Given the description of an element on the screen output the (x, y) to click on. 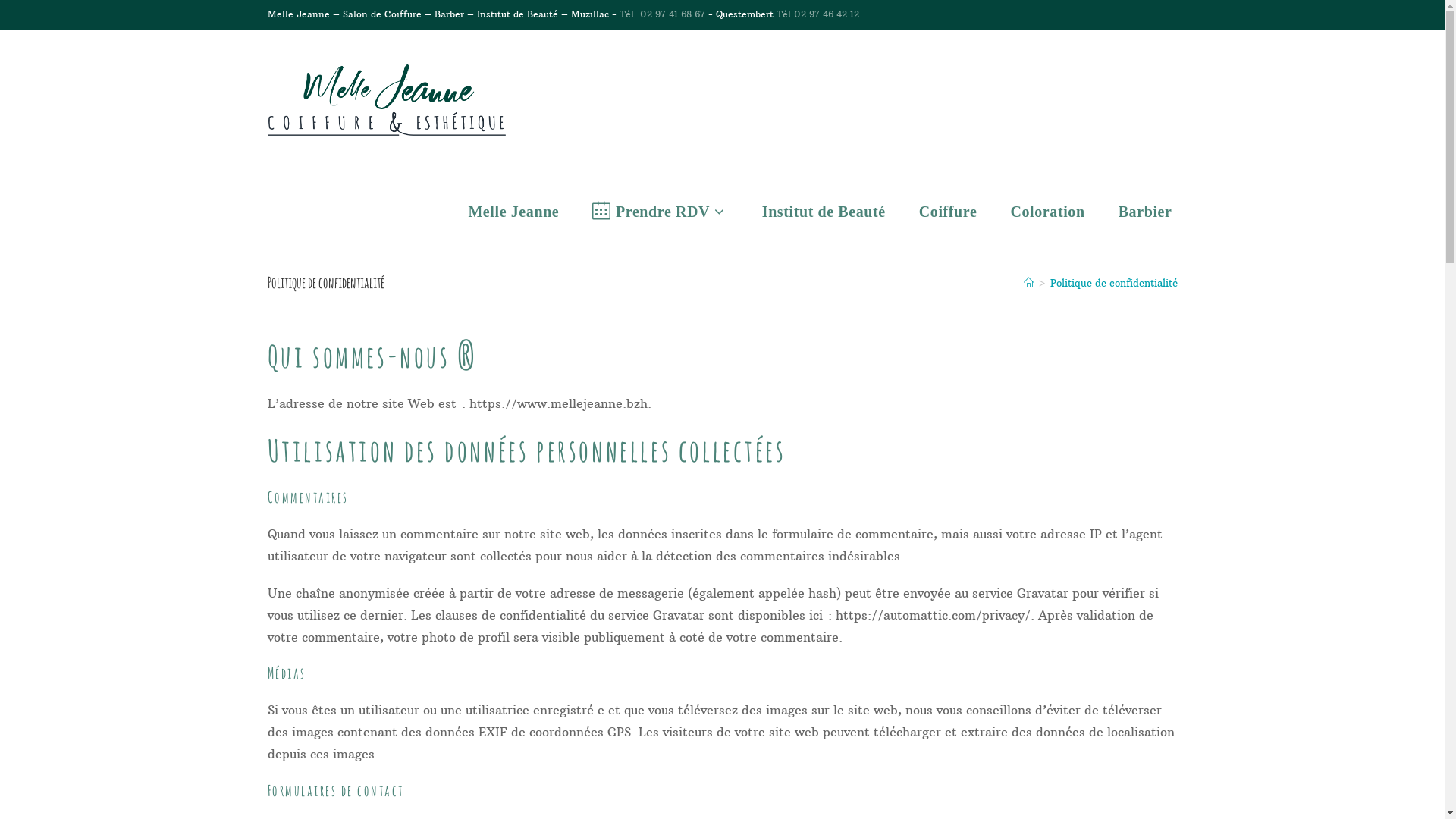
Coiffure Element type: text (948, 211)
Melle Jeanne Element type: text (513, 211)
Prendre RDV Element type: text (659, 211)
Coloration Element type: text (1047, 211)
Barbier Element type: text (1145, 211)
